Given the description of an element on the screen output the (x, y) to click on. 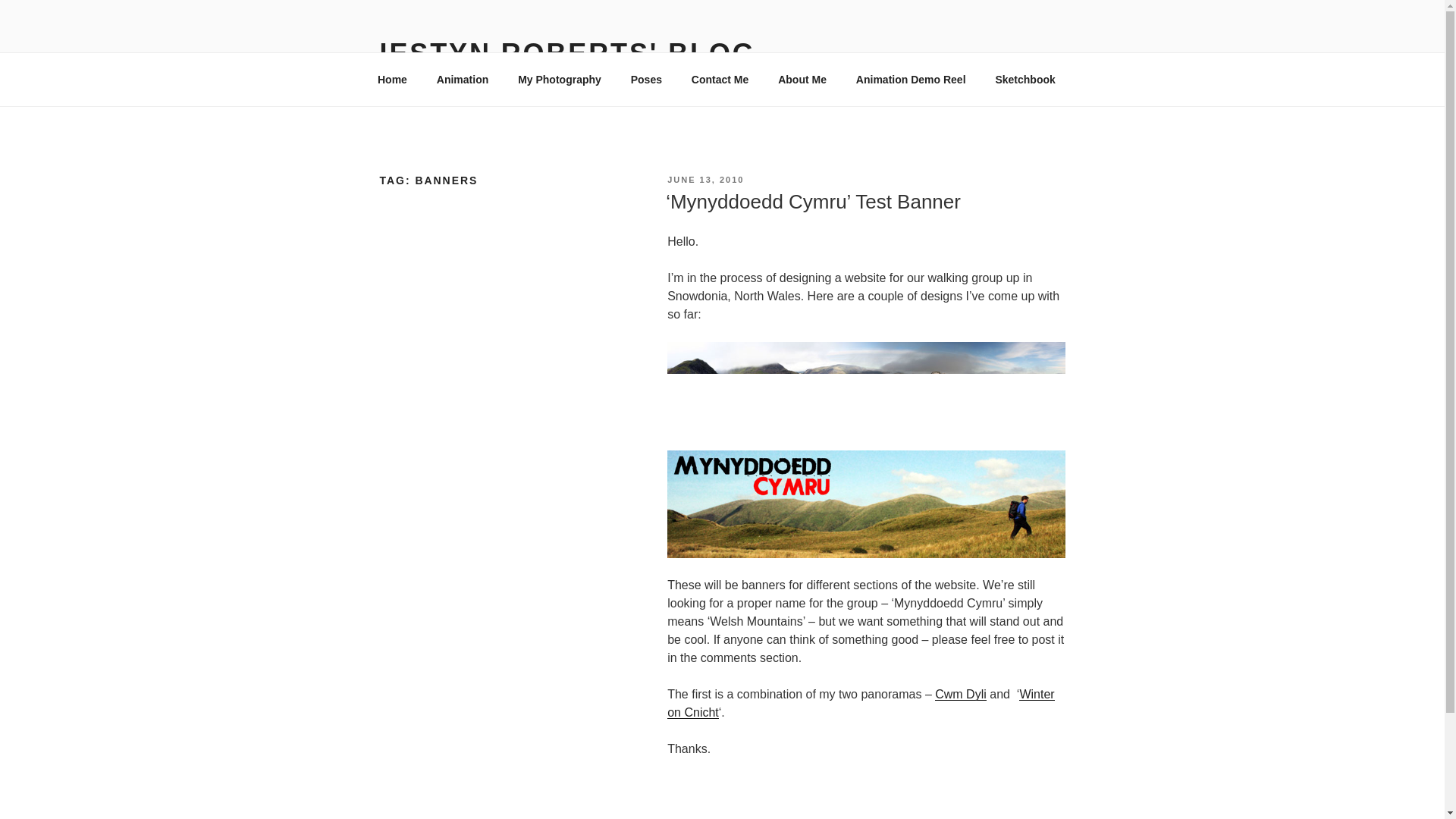
My Photography (559, 78)
About Me (802, 78)
Sketchbook (1024, 78)
Home (392, 78)
JUNE 13, 2010 (705, 179)
Animation (461, 78)
Cwm Dyli (960, 694)
Contact Me (719, 78)
Animation Demo Reel (910, 78)
Poses (646, 78)
Banner2 (865, 503)
IESTYN ROBERTS' BLOG (566, 52)
Winter on Cnicht (860, 703)
